Given the description of an element on the screen output the (x, y) to click on. 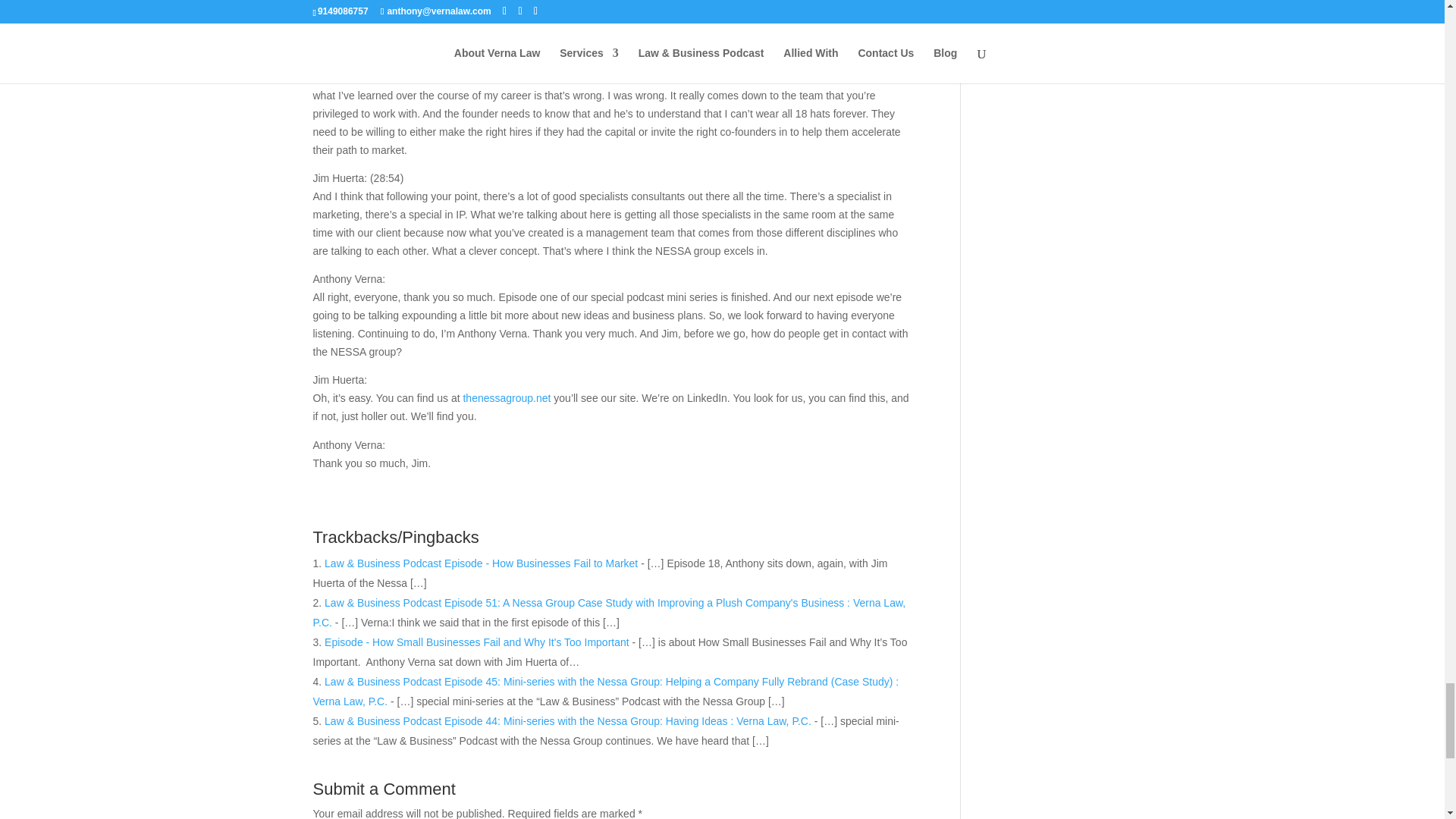
thenessagroup.net (507, 398)
